Given the description of an element on the screen output the (x, y) to click on. 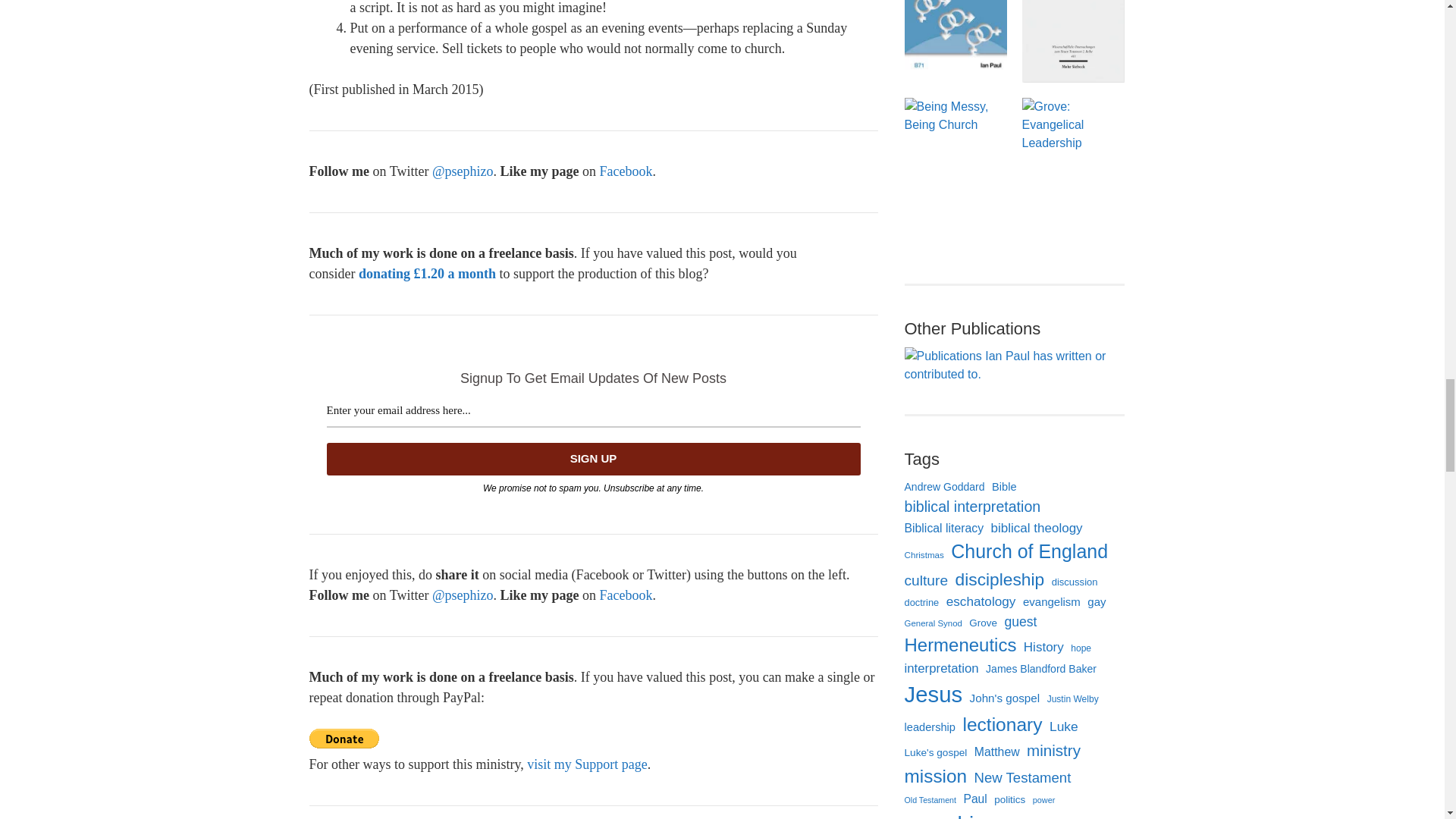
Facebook (625, 171)
Facebook (625, 595)
Sign Up (593, 459)
Sign Up (593, 459)
